Given the description of an element on the screen output the (x, y) to click on. 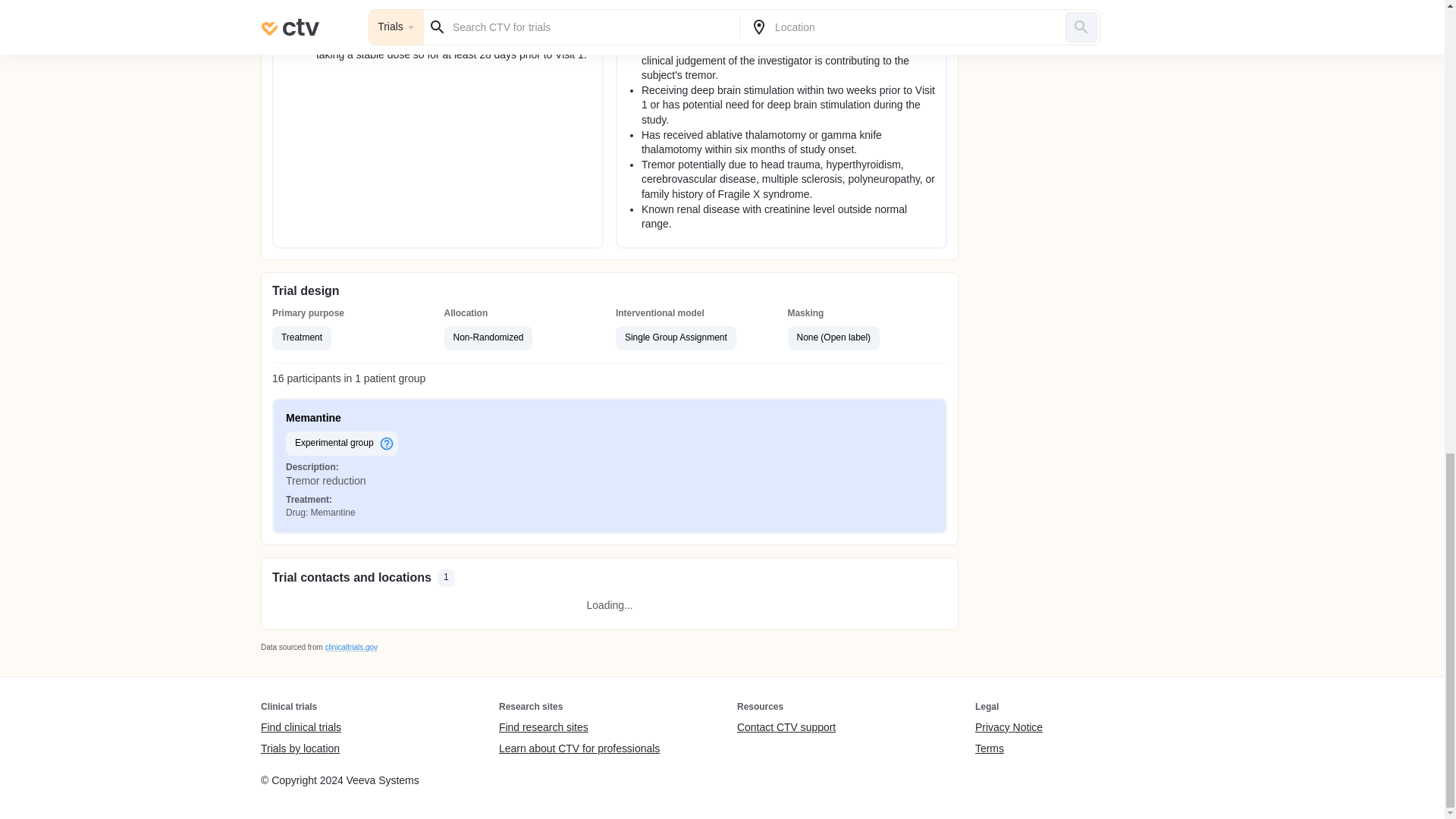
Contact CTV support (785, 727)
clinicaltrials.gov (350, 646)
Privacy Notice (1008, 727)
Learn about CTV for professionals (579, 748)
Trials by location (300, 748)
Find clinical trials (300, 727)
Find research sites (579, 727)
Terms (1008, 748)
